Given the description of an element on the screen output the (x, y) to click on. 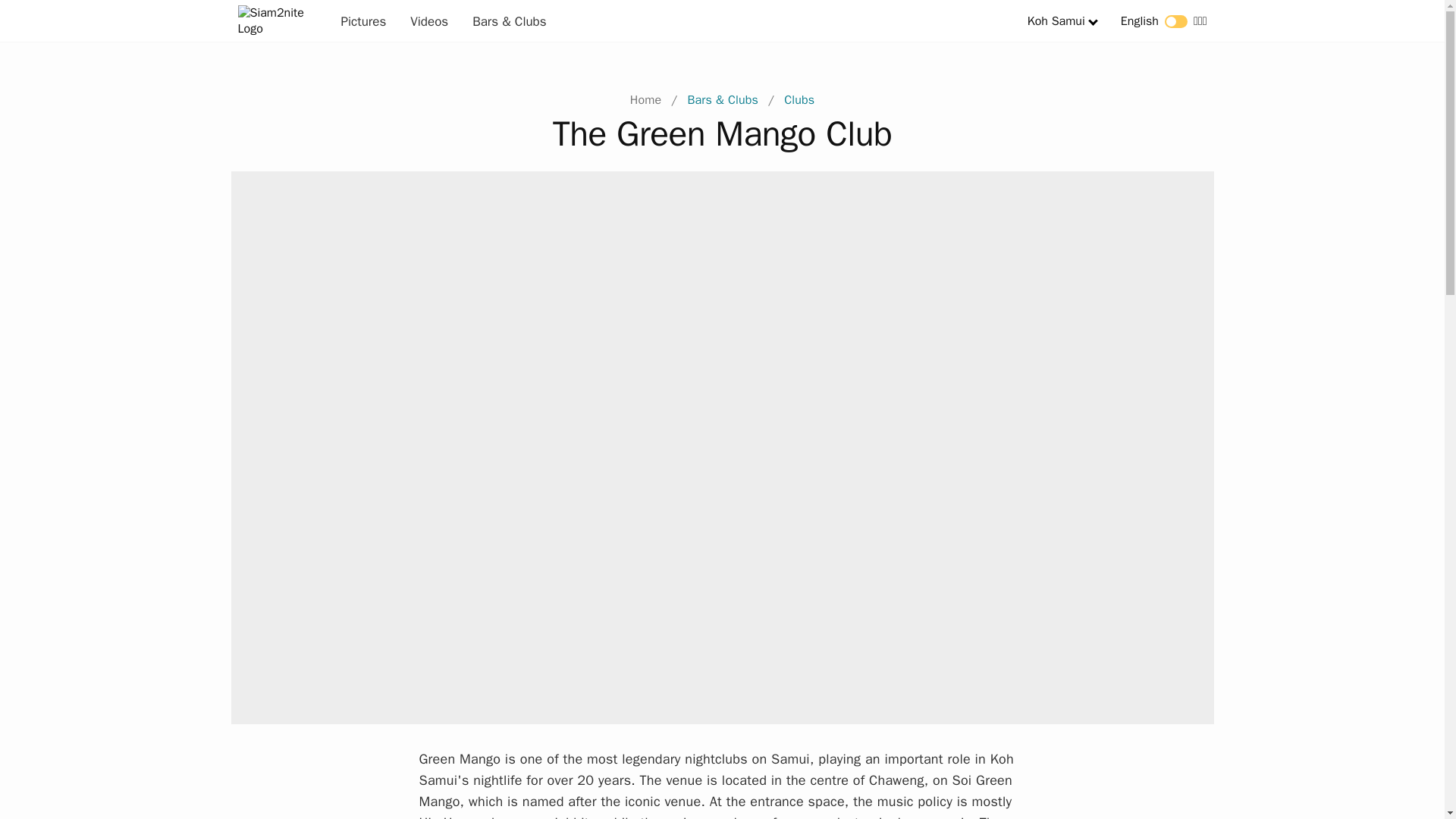
Clubs (798, 99)
Home (646, 99)
Pictures (363, 20)
Videos (428, 20)
Koh Samui (1055, 21)
